Given the description of an element on the screen output the (x, y) to click on. 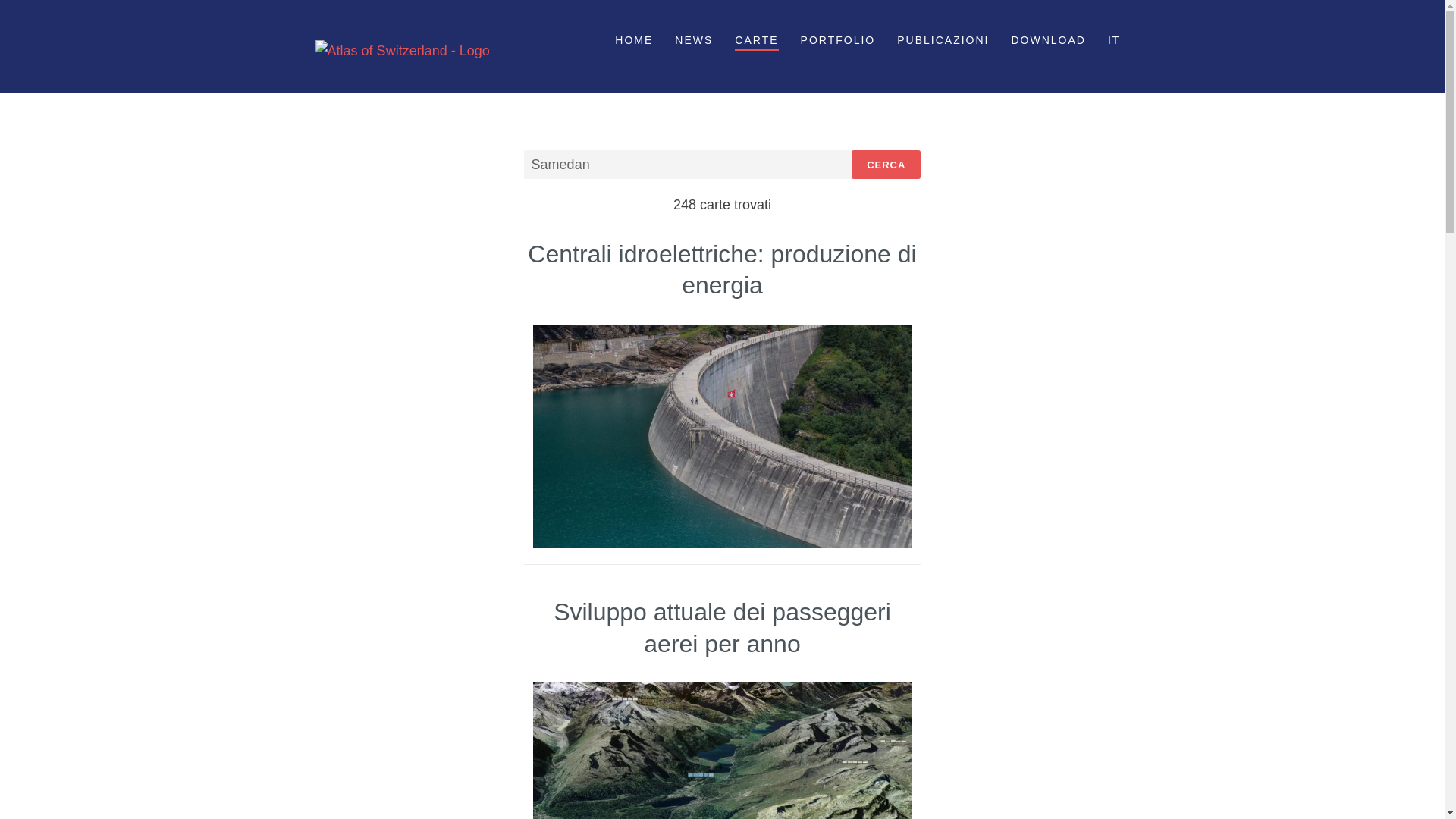
VAI AL CONTENUTO Element type: text (387, 34)
Sviluppo attuale dei passeggeri aerei per anno Element type: text (722, 627)
Visualizza la carta nell'atlante Element type: hover (721, 436)
PORTFOLIO Element type: text (837, 40)
IT Element type: text (1113, 40)
PUBLICAZIONI Element type: text (942, 40)
Atlante della Svizzera Element type: hover (402, 47)
CARTE Element type: text (756, 40)
NEWS Element type: text (693, 40)
DOWNLOAD Element type: text (1047, 40)
HOME Element type: text (633, 40)
Cerca Element type: text (885, 164)
Centrali idroelettriche: produzione di energia Element type: text (721, 269)
